Given the description of an element on the screen output the (x, y) to click on. 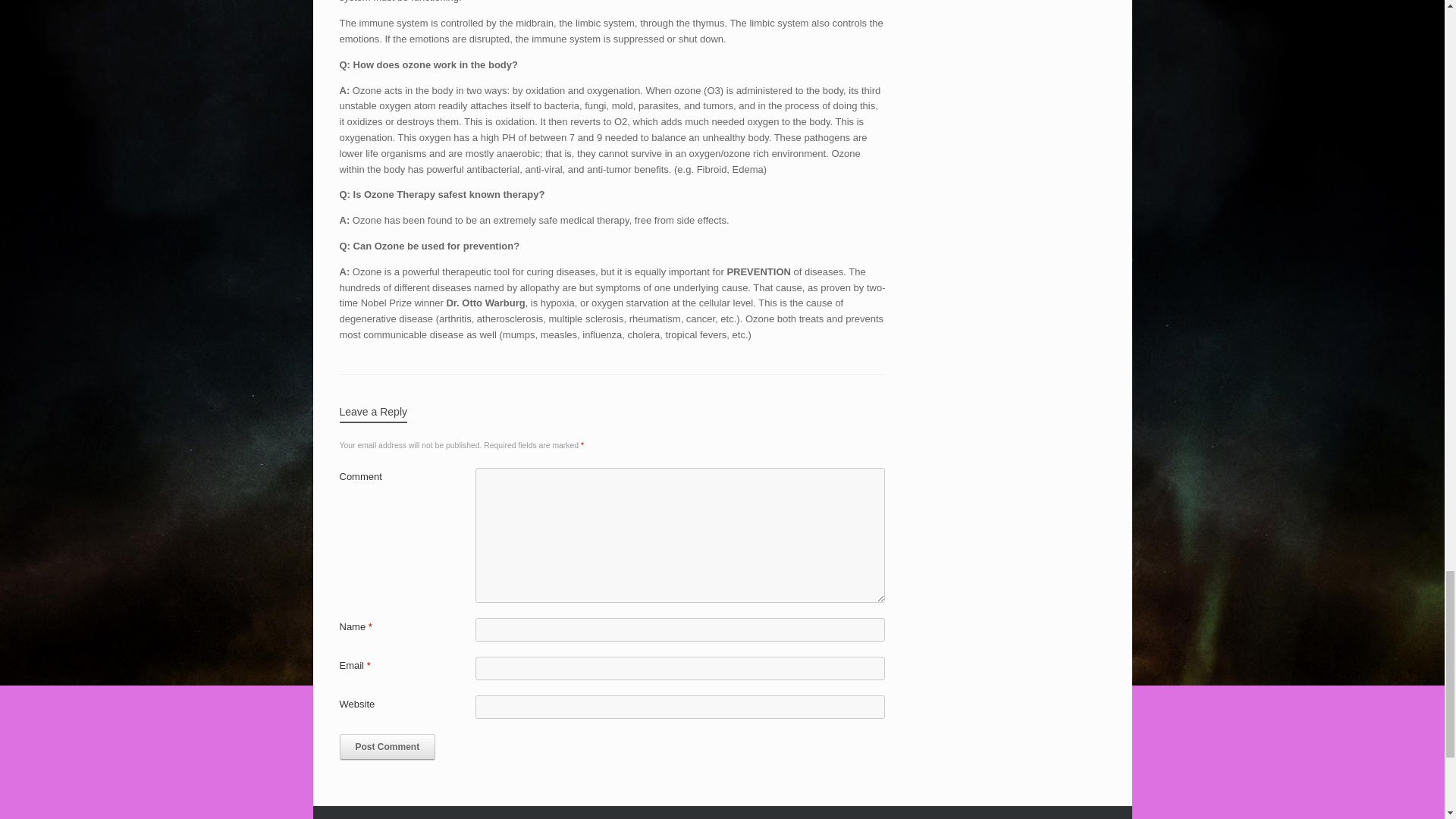
Post Comment (387, 746)
Post Comment (387, 746)
